Given the description of an element on the screen output the (x, y) to click on. 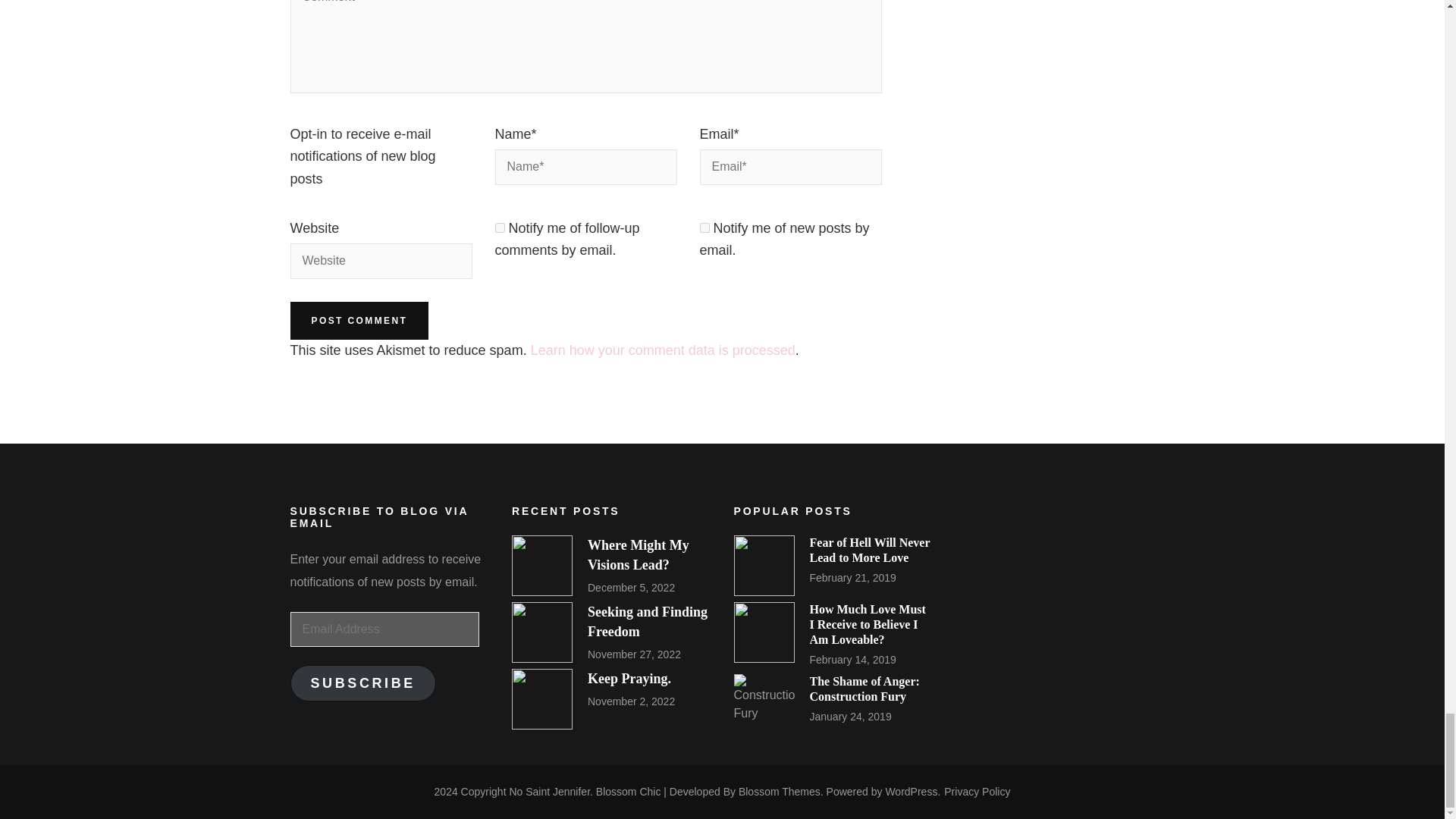
subscribe (703, 227)
subscribe (499, 227)
Post Comment (358, 320)
